Given the description of an element on the screen output the (x, y) to click on. 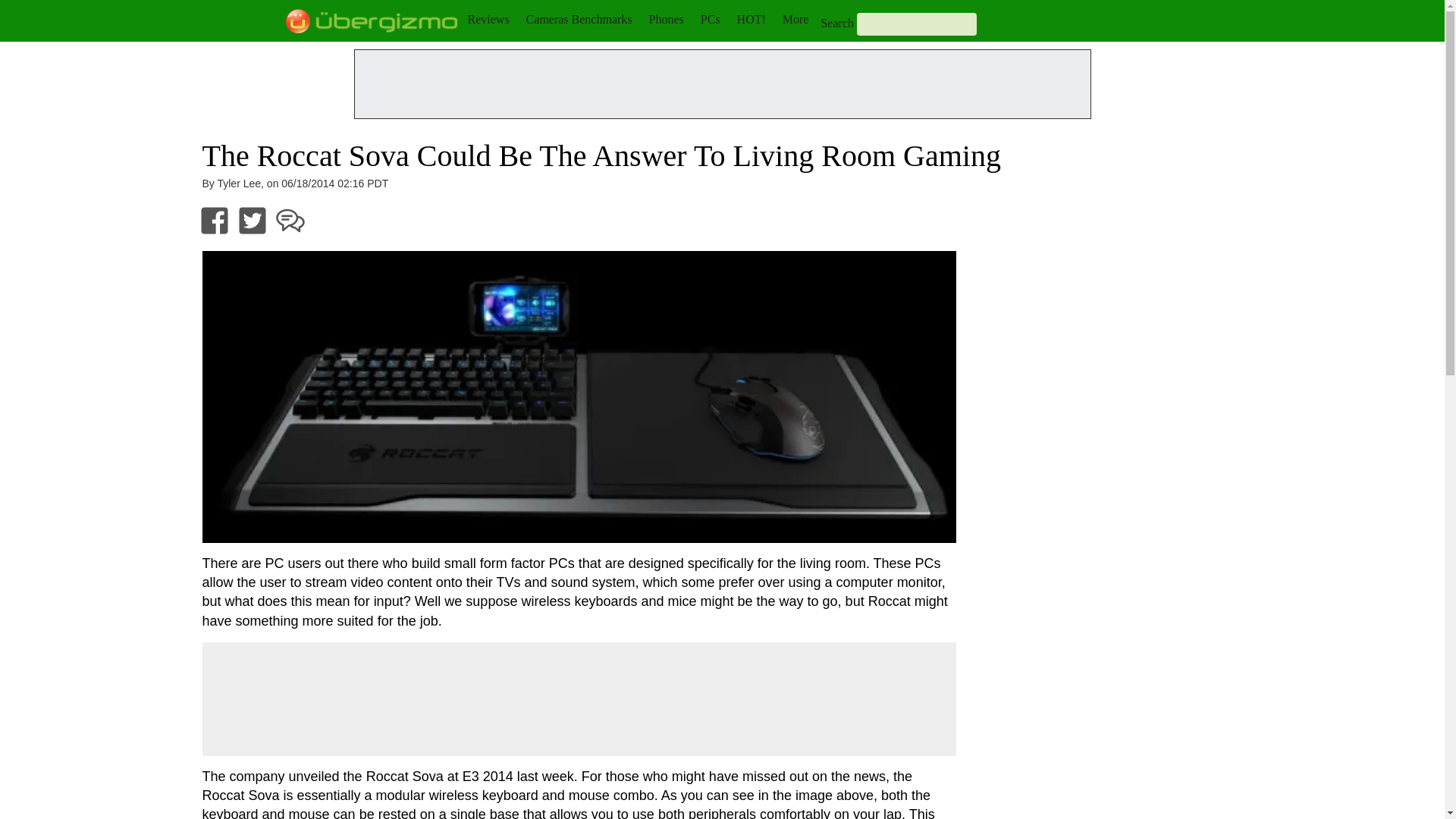
Cameras Benchmarks (578, 19)
PCs (710, 19)
Reviews (487, 19)
Phones (666, 19)
